Given the description of an element on the screen output the (x, y) to click on. 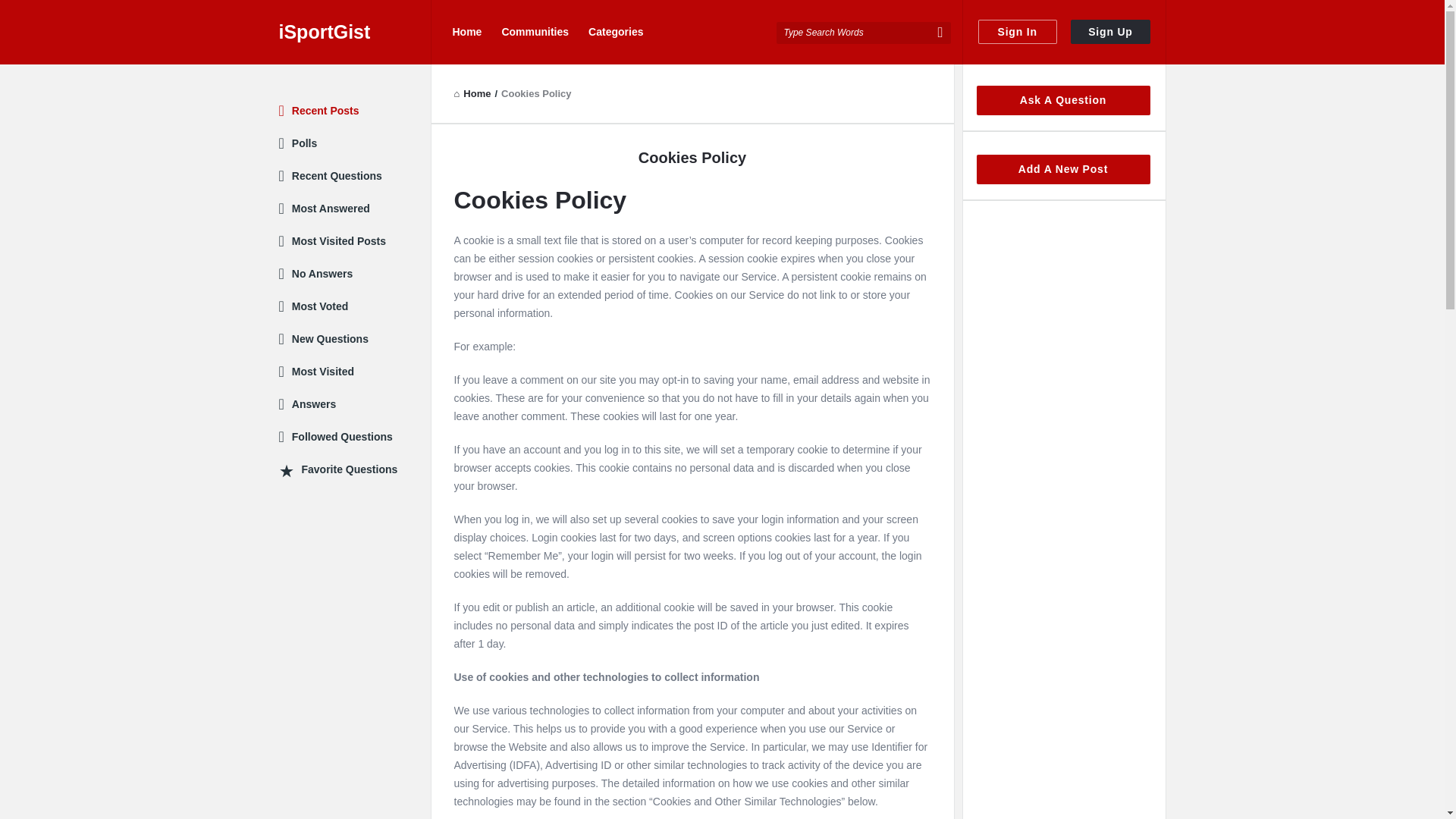
Communities (535, 32)
iSportGist (354, 32)
Sign Up (1110, 31)
Categories (615, 32)
Home (471, 93)
Home (466, 32)
Sign In (1017, 31)
iSportGist (354, 32)
